Given the description of an element on the screen output the (x, y) to click on. 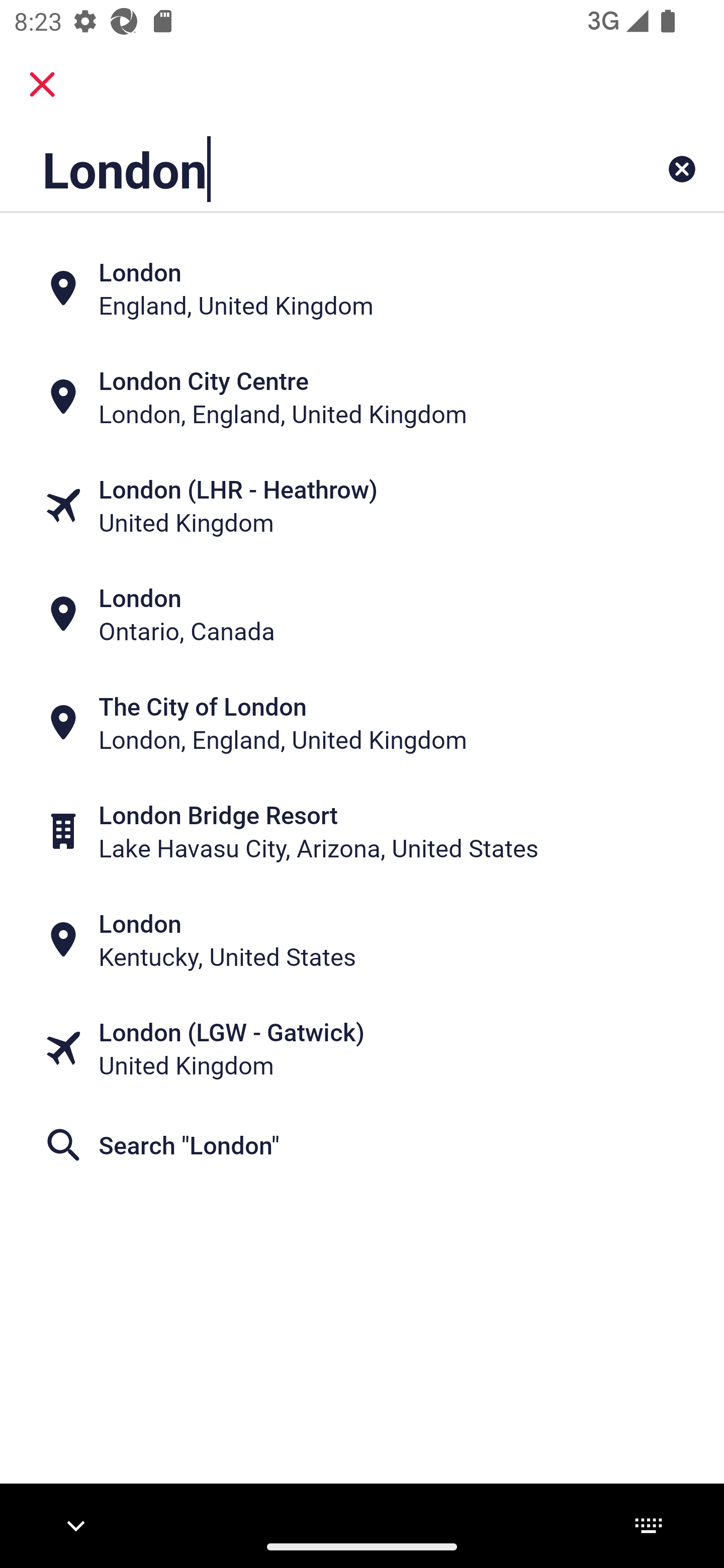
close. (42, 84)
Clear (681, 169)
London (298, 169)
London England, United Kingdom (362, 288)
London City Centre London, England, United Kingdom (362, 397)
London (LHR - Heathrow) United Kingdom (362, 505)
London Ontario, Canada (362, 613)
The City of London London, England, United Kingdom (362, 722)
London Kentucky, United States (362, 939)
London (LGW - Gatwick) United Kingdom (362, 1048)
Search "London" (361, 1144)
